Given the description of an element on the screen output the (x, y) to click on. 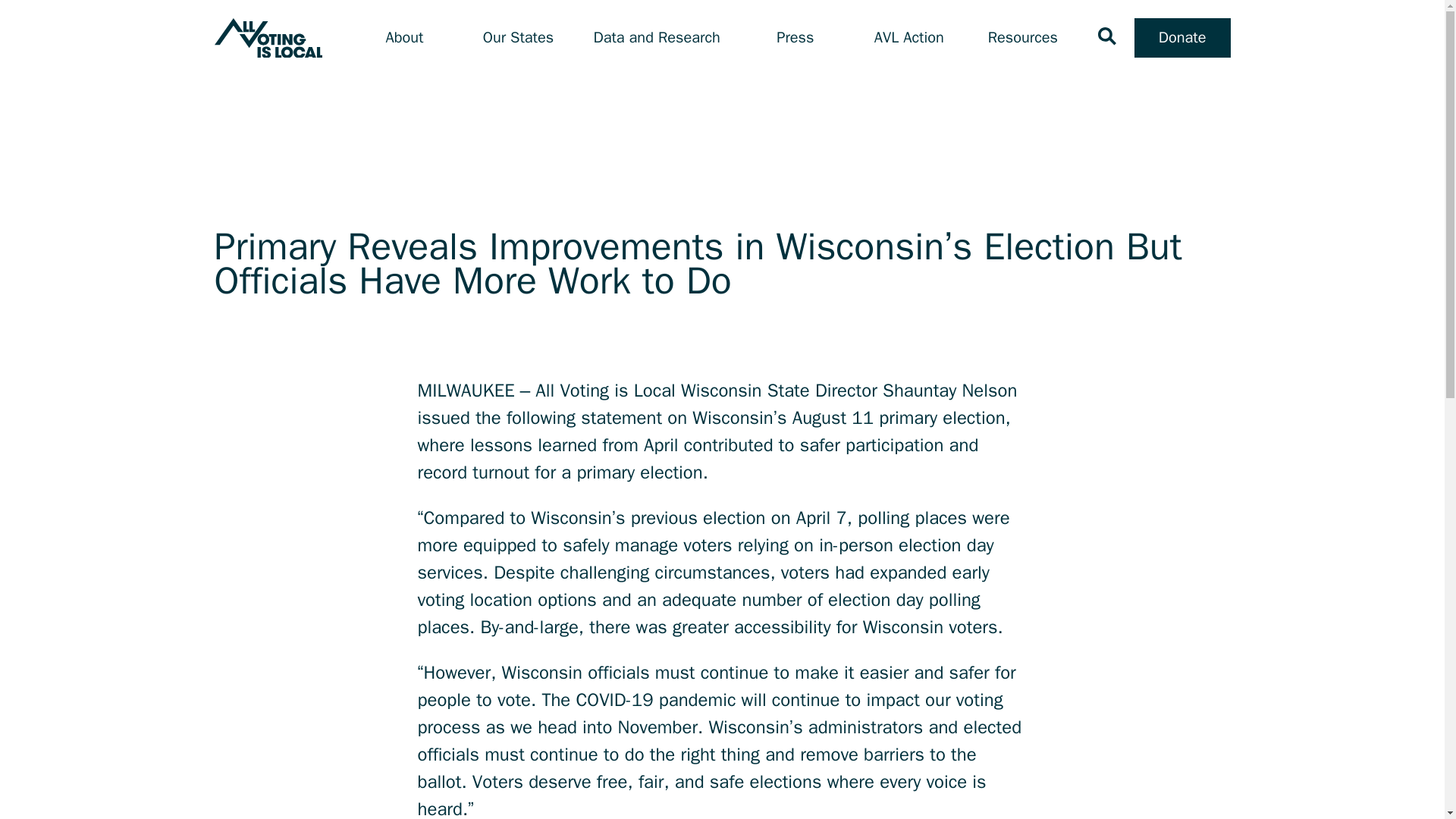
Data and Research (656, 37)
AVL Action (908, 37)
Press (794, 37)
All Voting is Local (267, 38)
About (404, 37)
Resources (1023, 37)
Our States (518, 37)
Open search (1107, 36)
Donate (1182, 37)
